Given the description of an element on the screen output the (x, y) to click on. 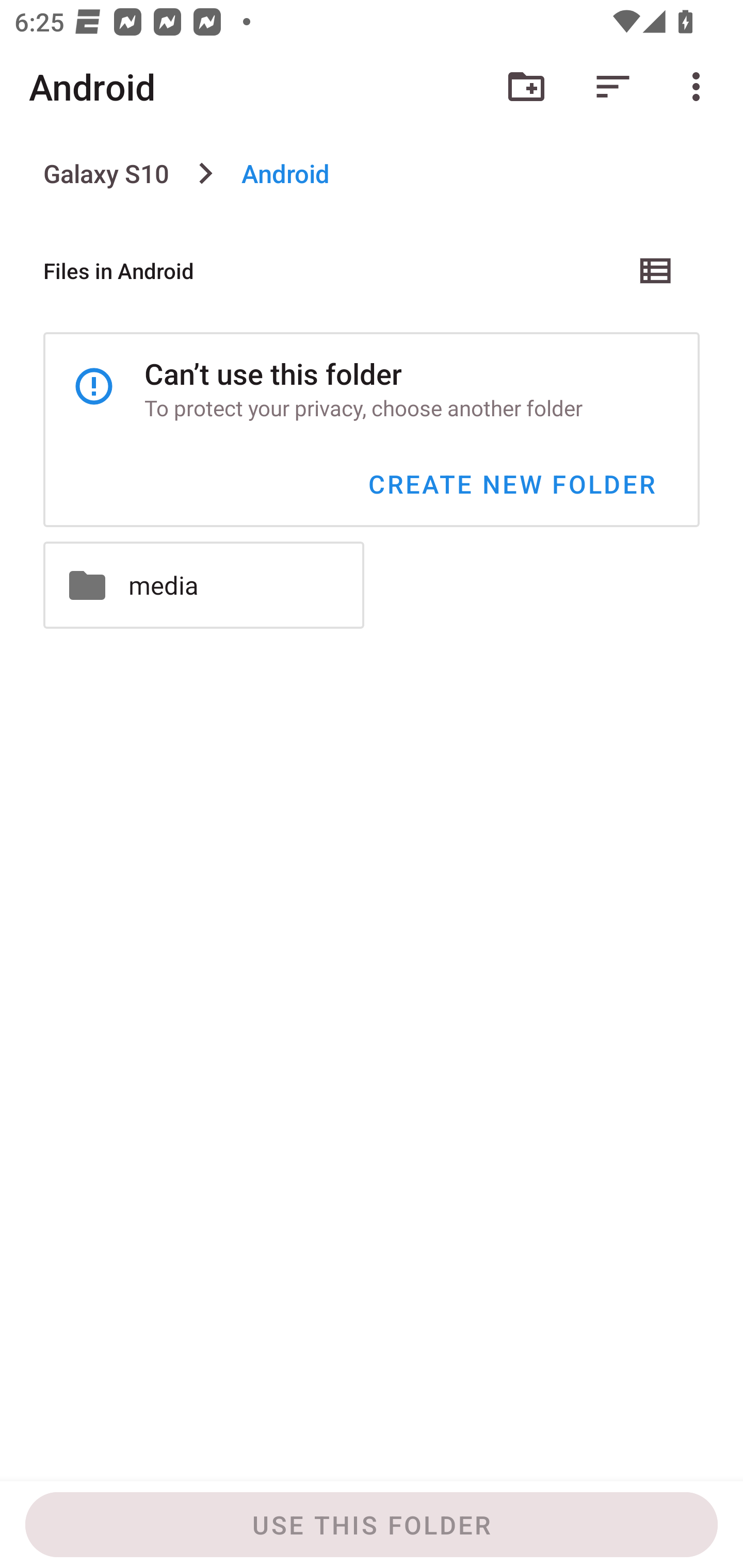
New folder (525, 86)
Sort by... (612, 86)
More options (699, 86)
List view (655, 270)
CREATE NEW FOLDER (511, 483)
media (203, 584)
USE THIS FOLDER (371, 1524)
